Given the description of an element on the screen output the (x, y) to click on. 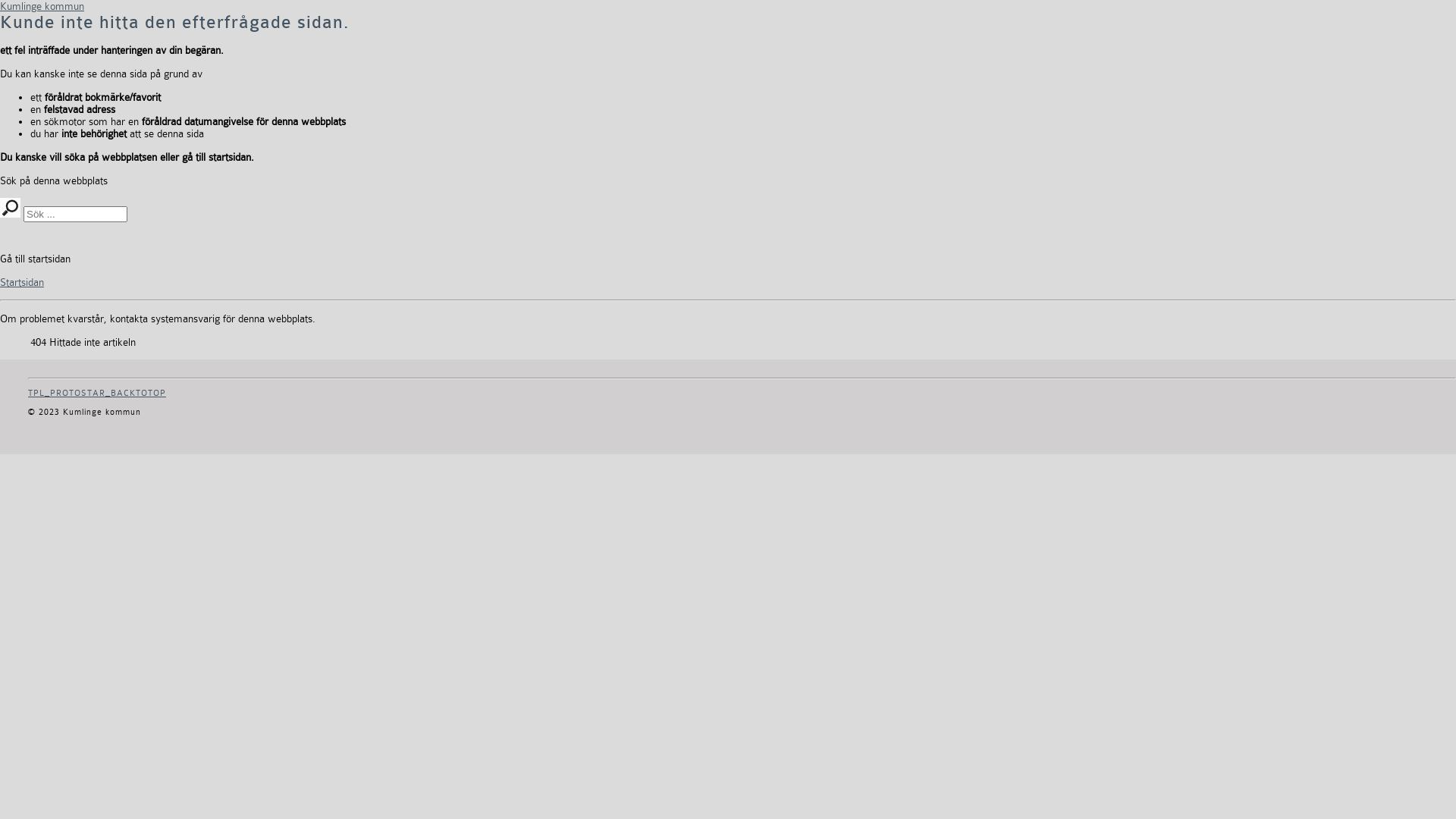
Startsidan Element type: text (21, 282)
TPL_PROTOSTAR_BACKTOTOP Element type: text (97, 393)
Kumlinge kommun Element type: text (42, 6)
